Given the description of an element on the screen output the (x, y) to click on. 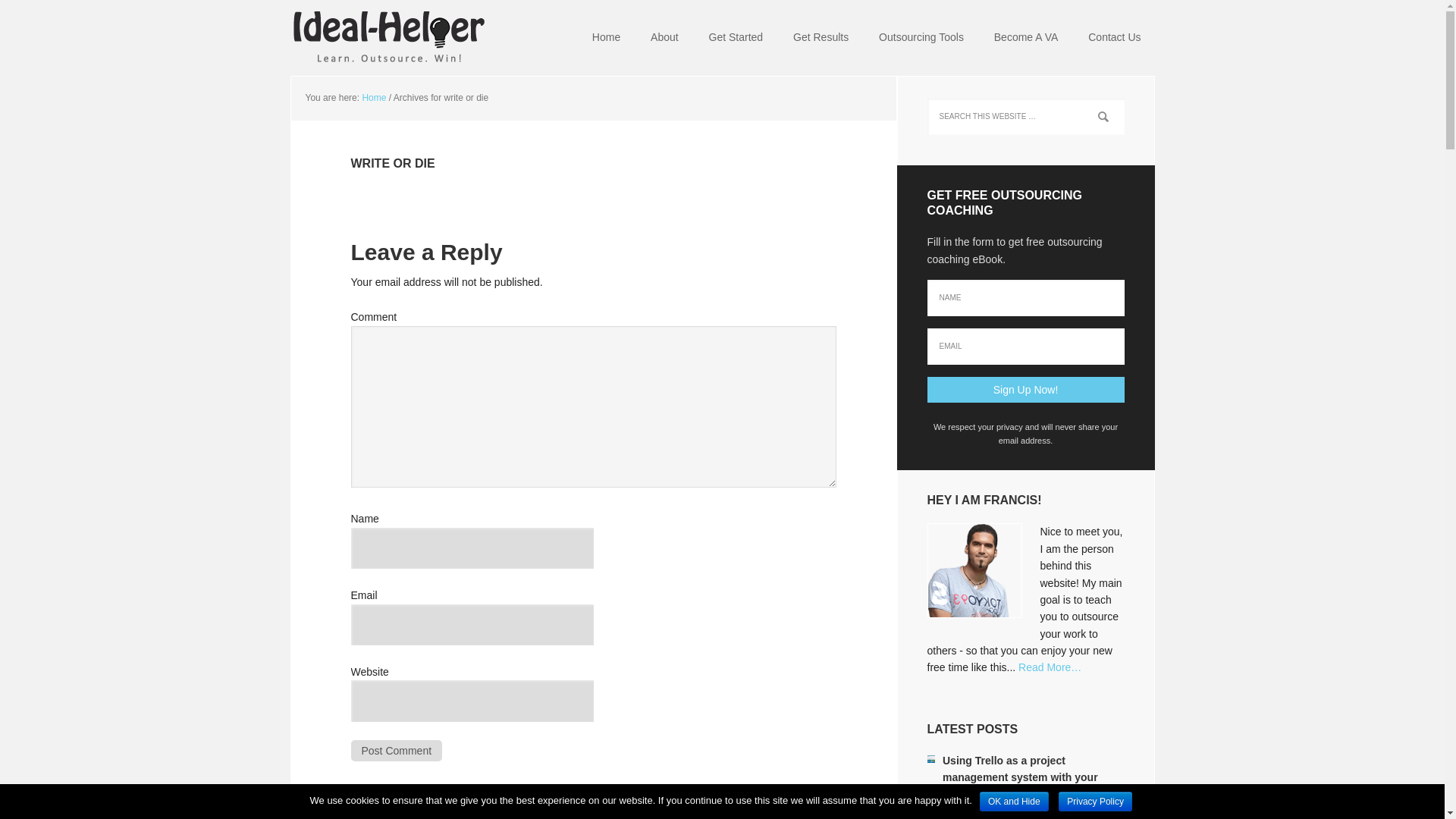
Become A VA (1025, 38)
Get Started (736, 38)
Outsourcing Tools (920, 38)
Post Comment (396, 750)
Post Comment (396, 750)
Sign Up Now! (1025, 389)
Home (373, 97)
Ideal-Helper (387, 38)
About (665, 38)
Contact Us (1114, 38)
Learn how your comment data is processed (681, 816)
Get Results (819, 38)
Home (605, 38)
